Given the description of an element on the screen output the (x, y) to click on. 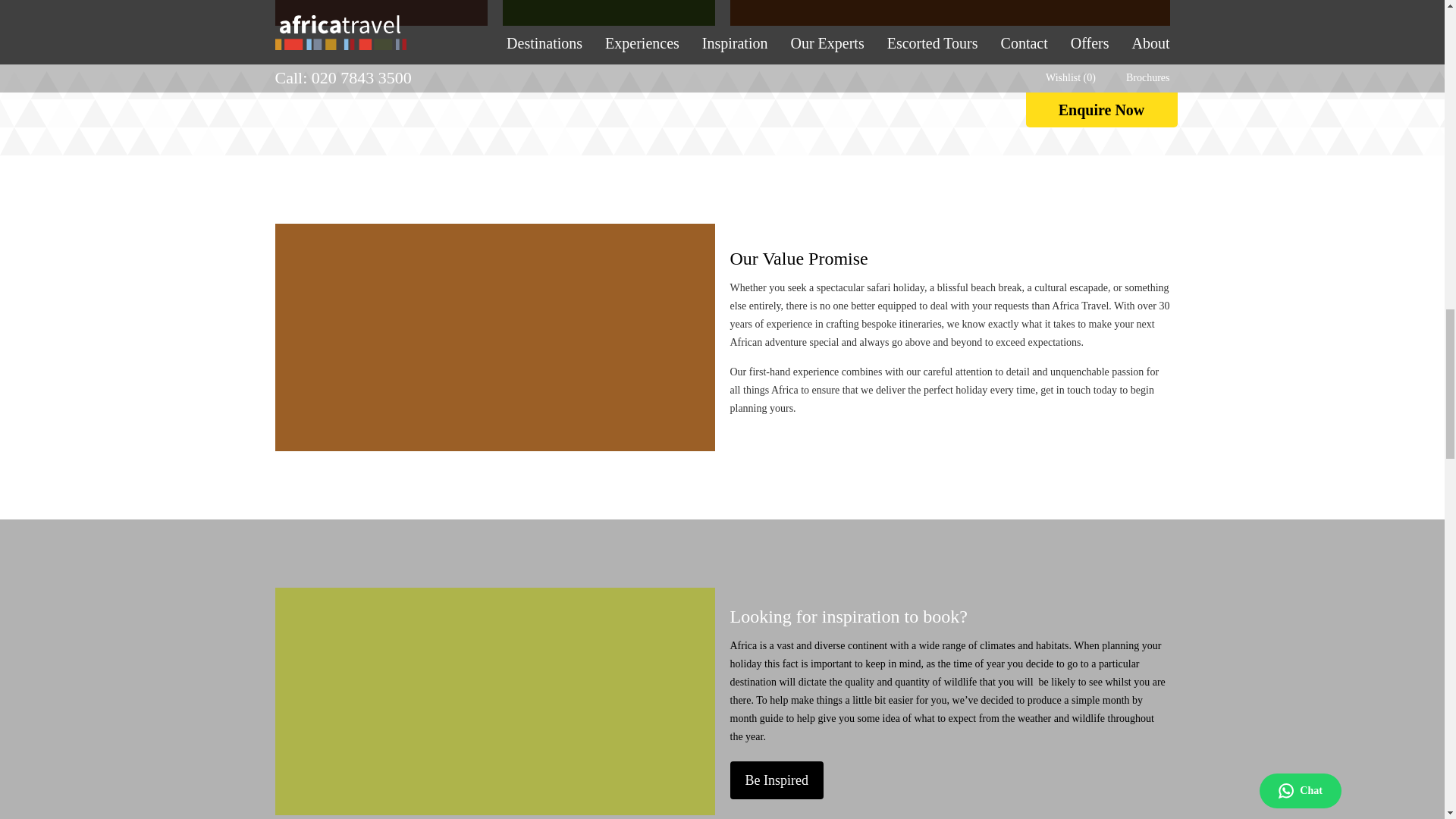
Be Inspired (775, 780)
